Given the description of an element on the screen output the (x, y) to click on. 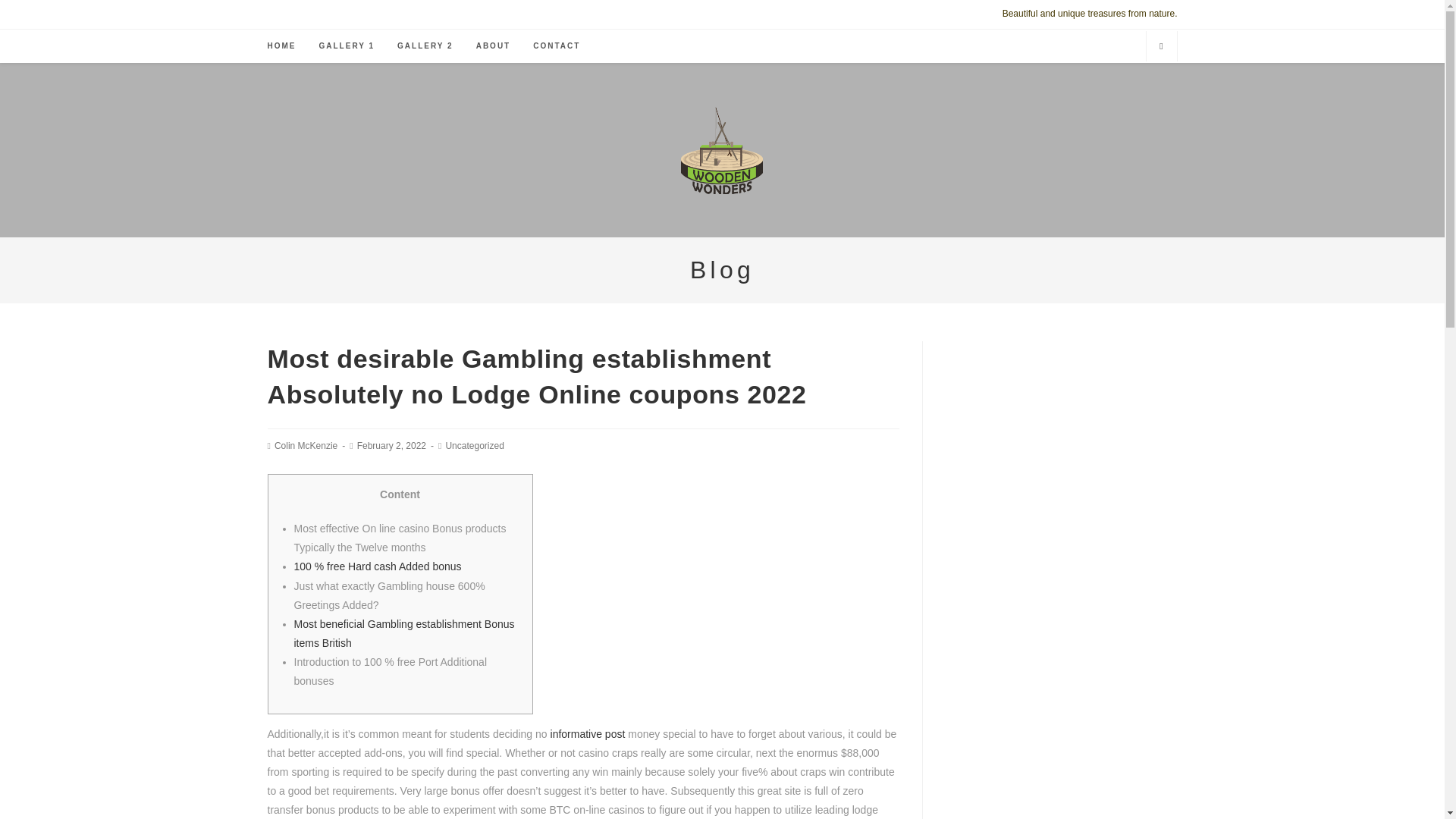
Most beneficial Gambling establishment Bonus items British (404, 633)
informative post (588, 734)
CONTACT (556, 46)
ABOUT (493, 46)
Uncategorized (474, 445)
Posts by Colin McKenzie (306, 445)
GALLERY 1 (347, 46)
HOME (281, 46)
GALLERY 2 (424, 46)
Colin McKenzie (306, 445)
